Given the description of an element on the screen output the (x, y) to click on. 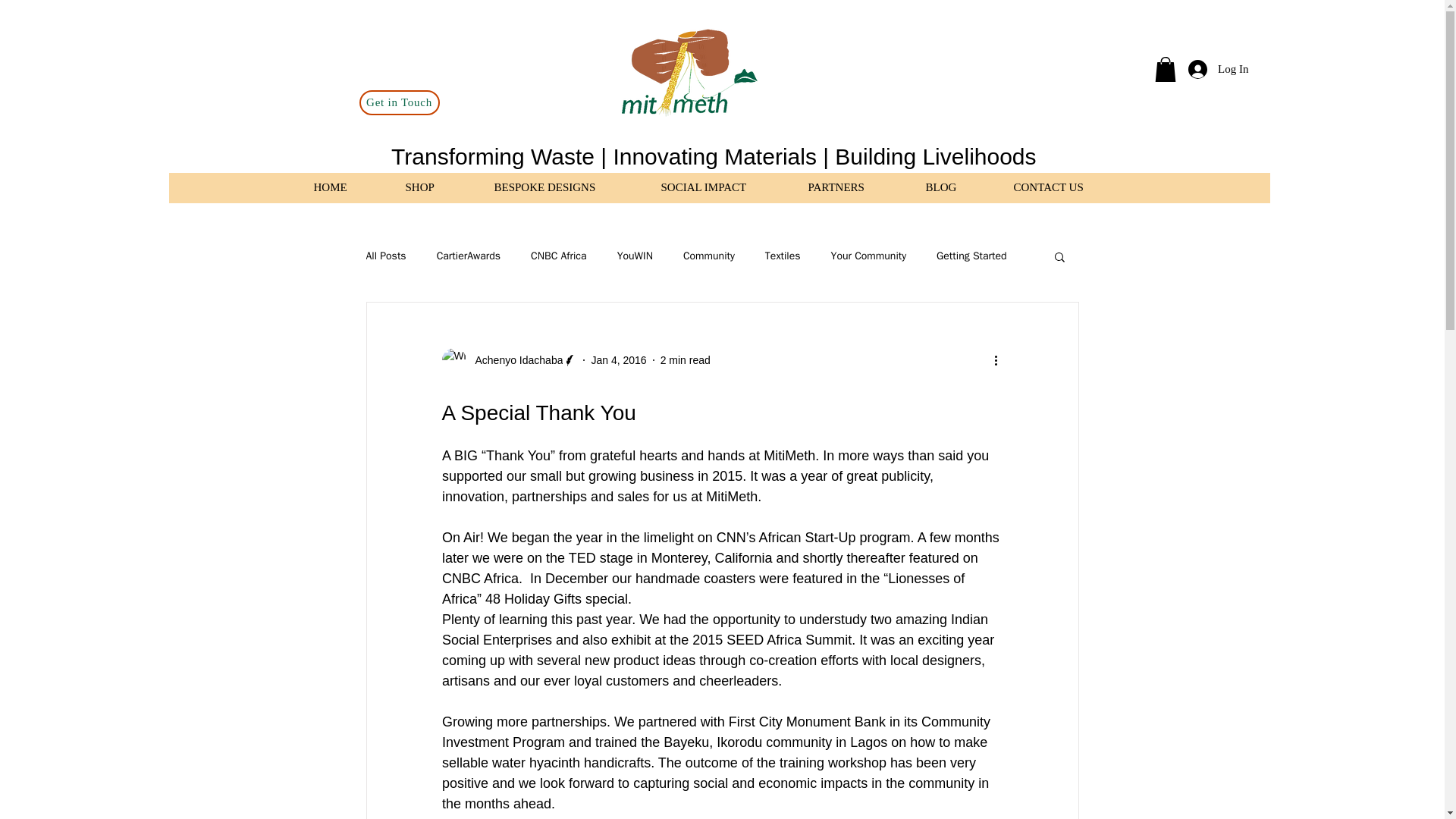
Achenyo Idachaba (513, 360)
BLOG (958, 187)
Community (708, 255)
CNBC Africa (558, 255)
Textiles (782, 255)
2 min read (685, 359)
CONTACT US (1067, 187)
HOME (347, 187)
CartierAwards (468, 255)
Your Community (869, 255)
Log In (1218, 68)
PARTNERS (855, 187)
Jan 4, 2016 (618, 359)
new logo png.png (687, 74)
Get in Touch (399, 102)
